Given the description of an element on the screen output the (x, y) to click on. 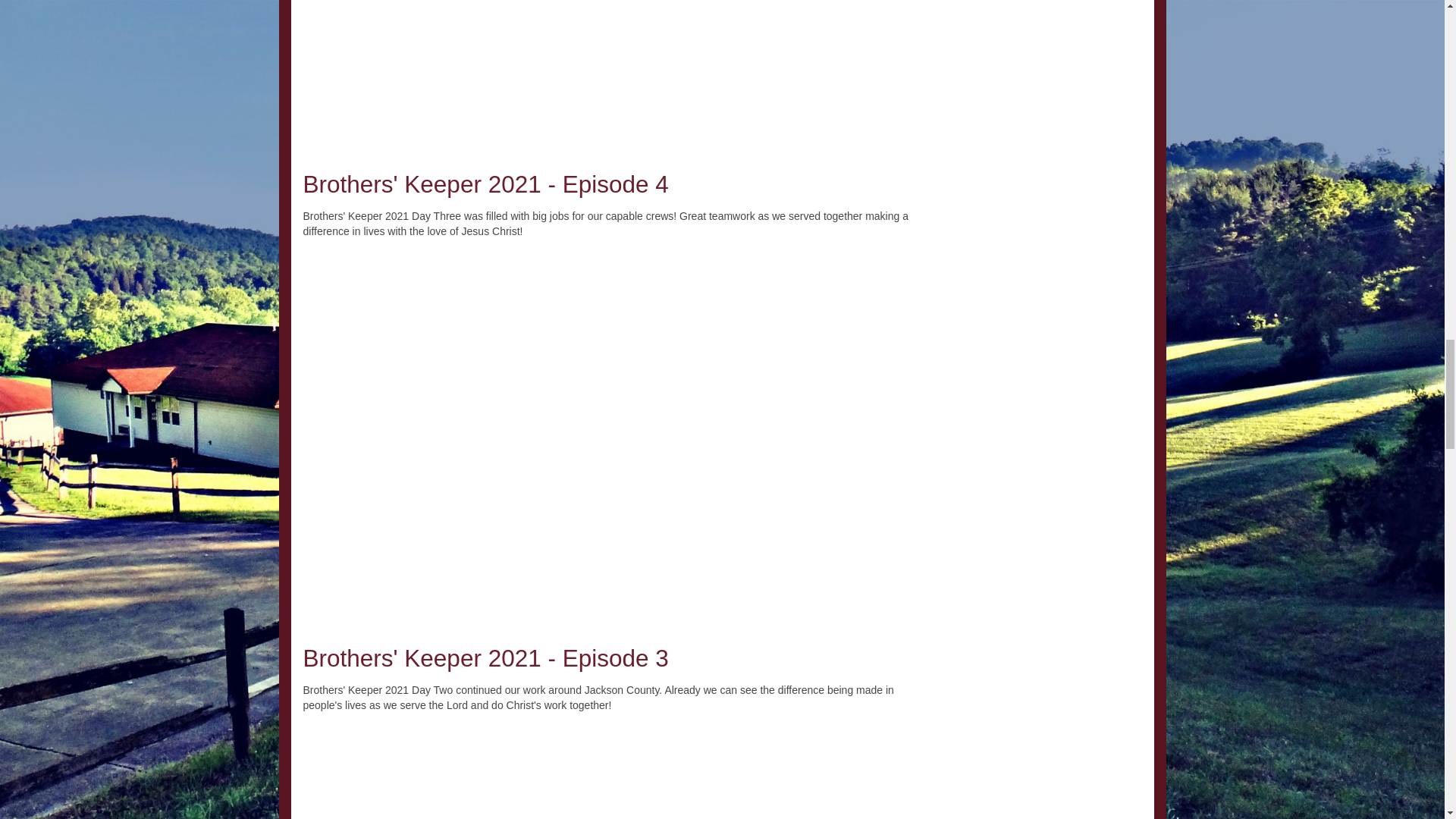
Brothers' Keeper 2021 - Episode 3 (485, 657)
Brothers' Keeper 2021 - Episode 4 (485, 184)
